Given the description of an element on the screen output the (x, y) to click on. 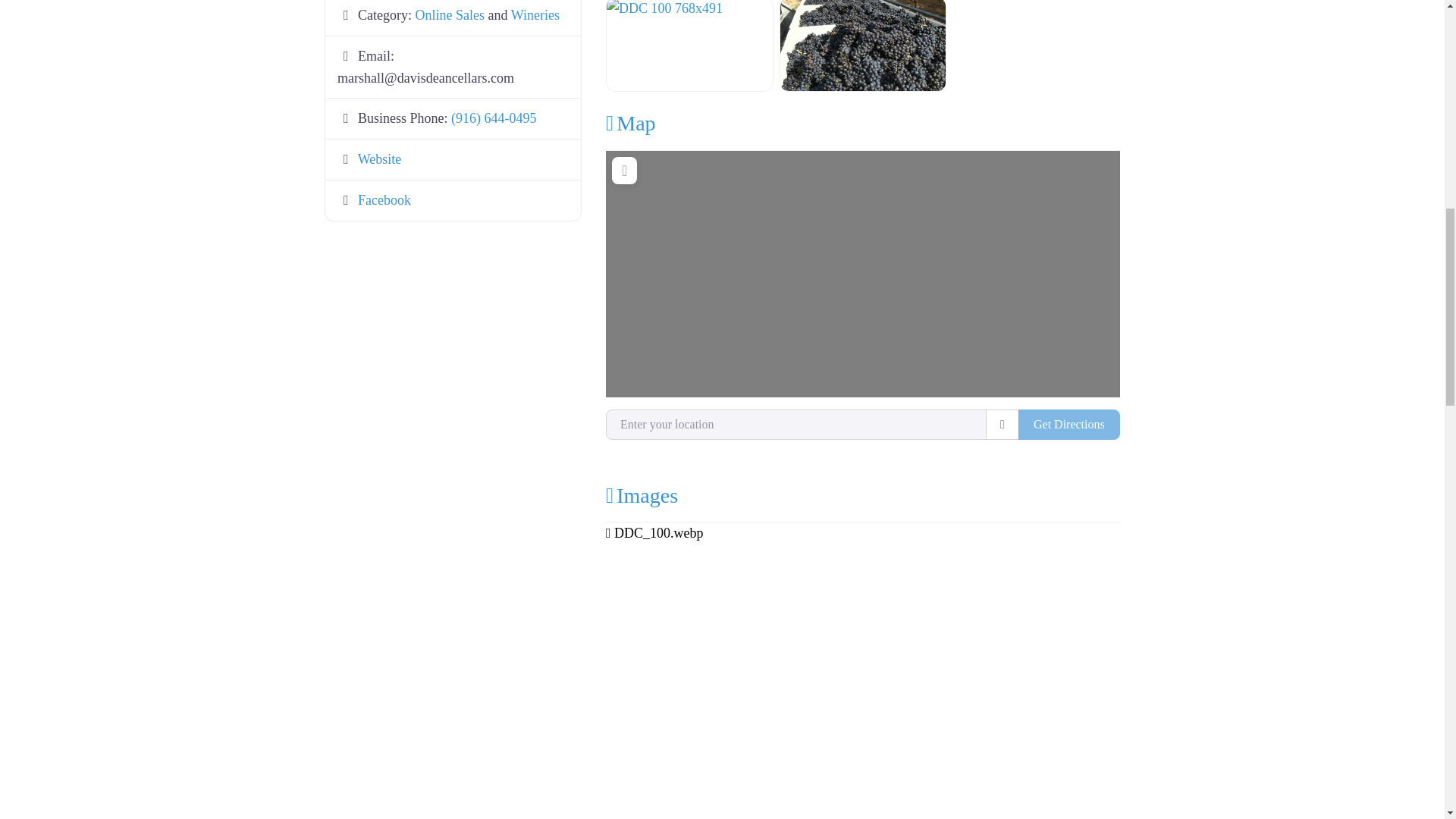
Wineries (535, 14)
Online Sales (449, 14)
